Given the description of an element on the screen output the (x, y) to click on. 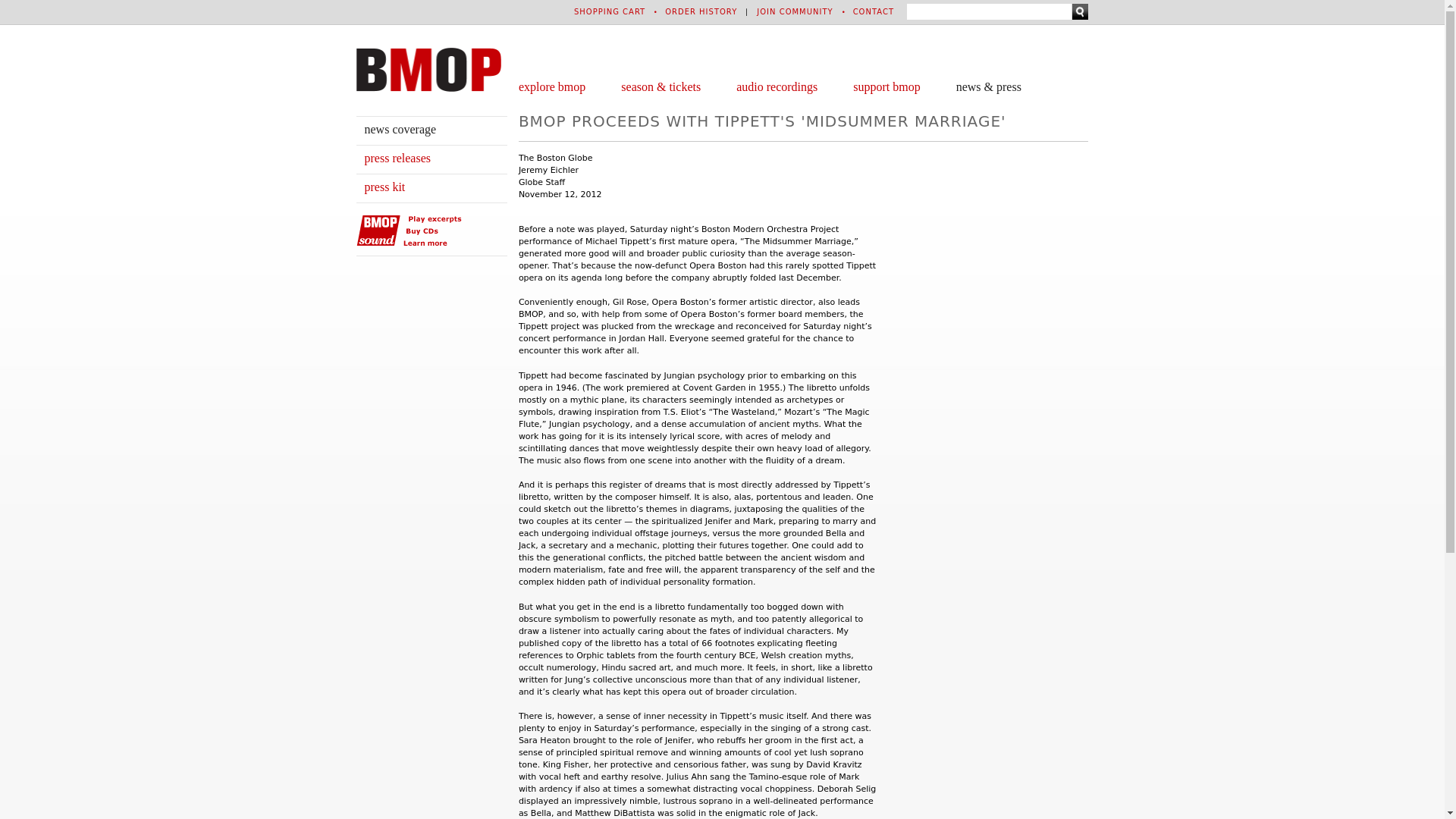
support bmop (886, 87)
explore bmop (551, 87)
audio recordings (776, 87)
Search (1079, 11)
press kit (384, 186)
news coverage (399, 128)
Enter the terms you wish to search for. (989, 11)
Press Kit (384, 186)
Search (1079, 11)
ORDER HISTORY (700, 11)
